Given the description of an element on the screen output the (x, y) to click on. 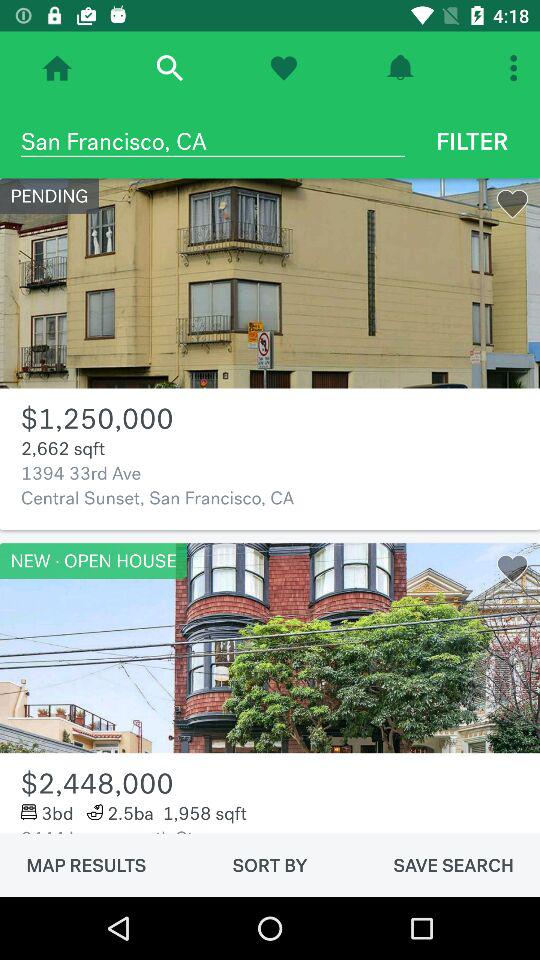
choose item to the left of the sort by icon (85, 865)
